Given the description of an element on the screen output the (x, y) to click on. 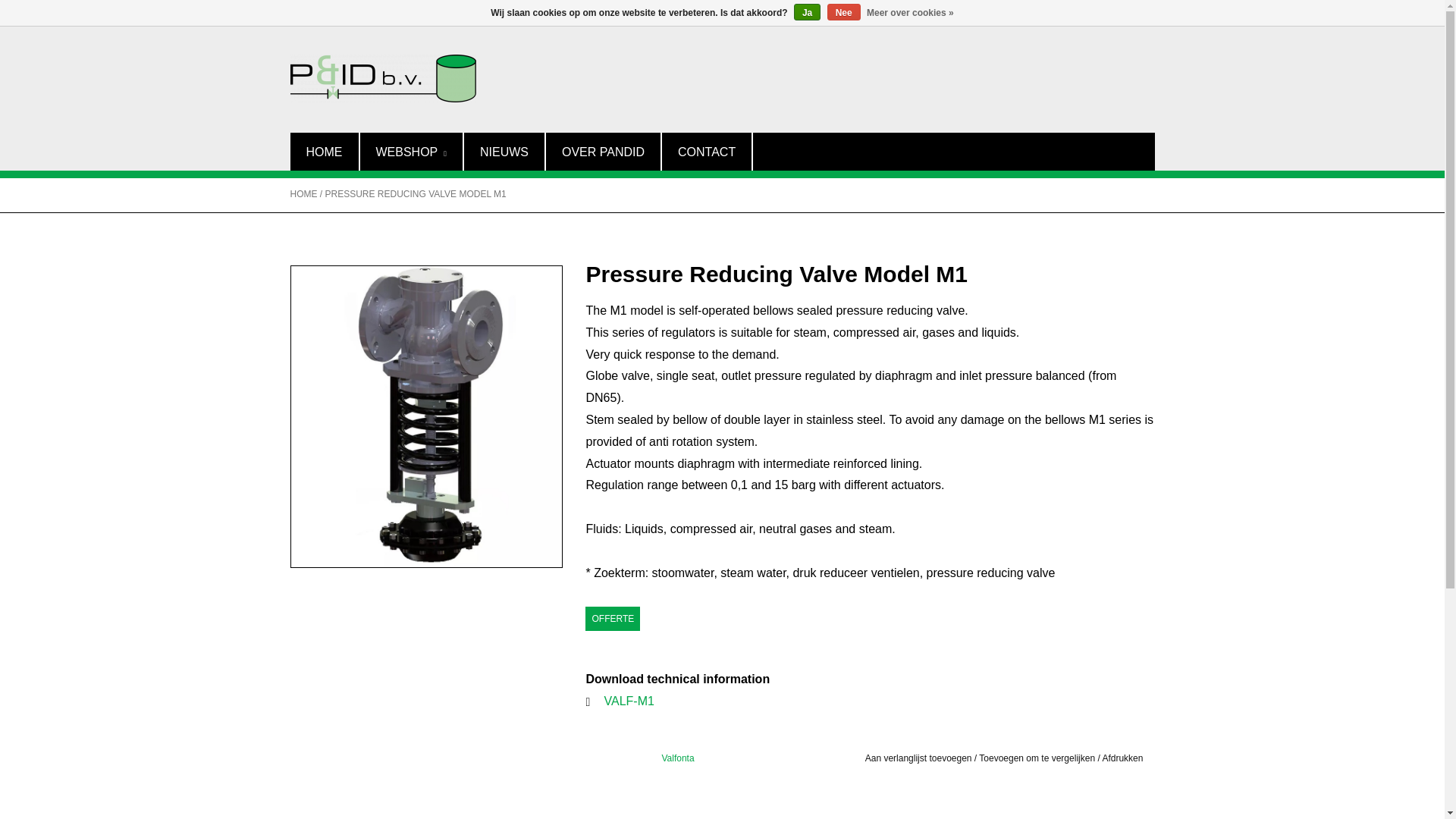
HOME (323, 151)
VALF-M1 (628, 700)
OFFERTE (612, 618)
Webshop (410, 151)
NIEUWS (504, 151)
Winkelwagen (1192, 12)
HOME (303, 194)
WEBSHOP (410, 151)
Aan verlanglijst toevoegen (918, 757)
Toevoegen om te vergelijken (1037, 757)
